Given the description of an element on the screen output the (x, y) to click on. 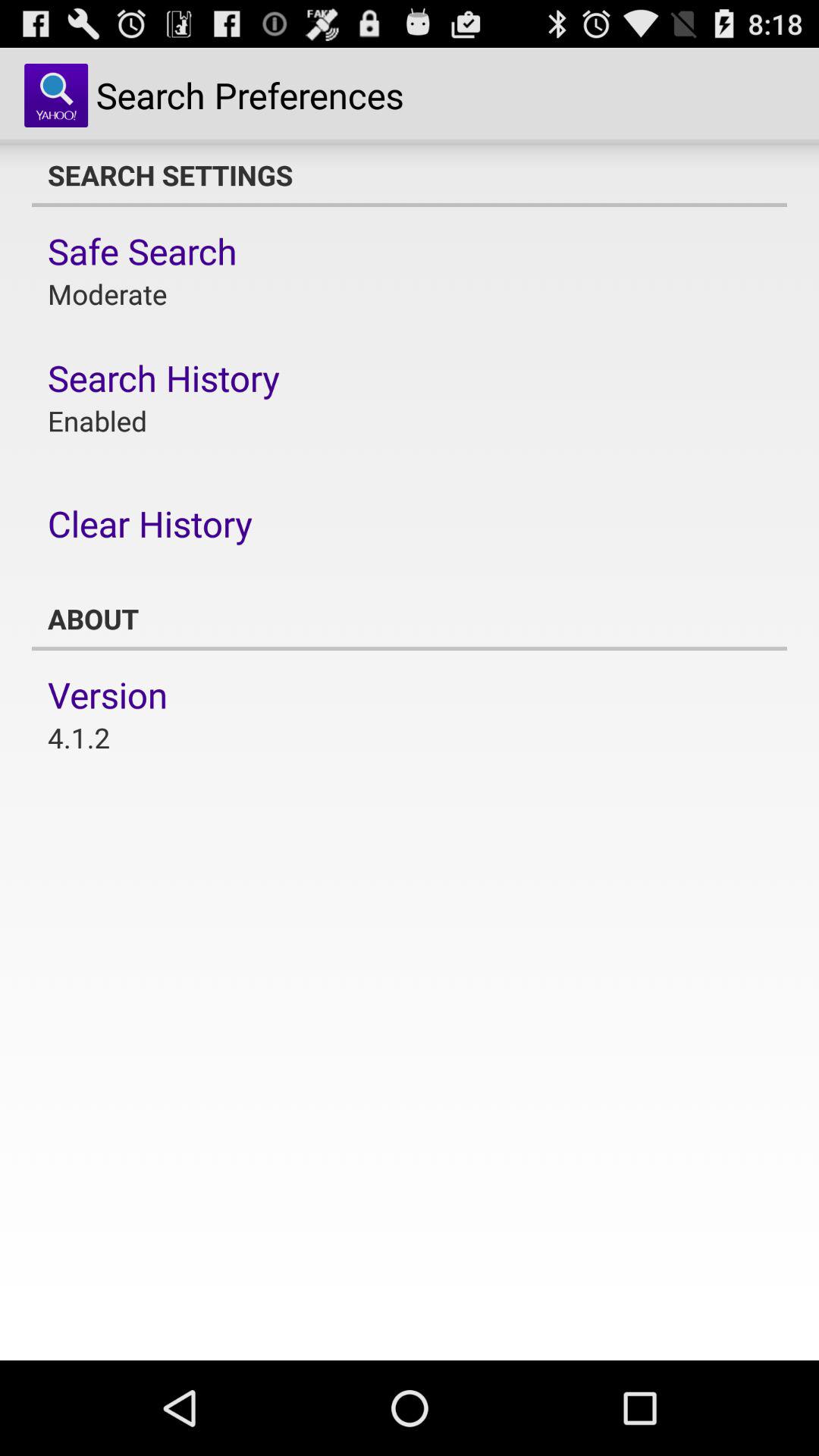
open the app below moderate (163, 377)
